Given the description of an element on the screen output the (x, y) to click on. 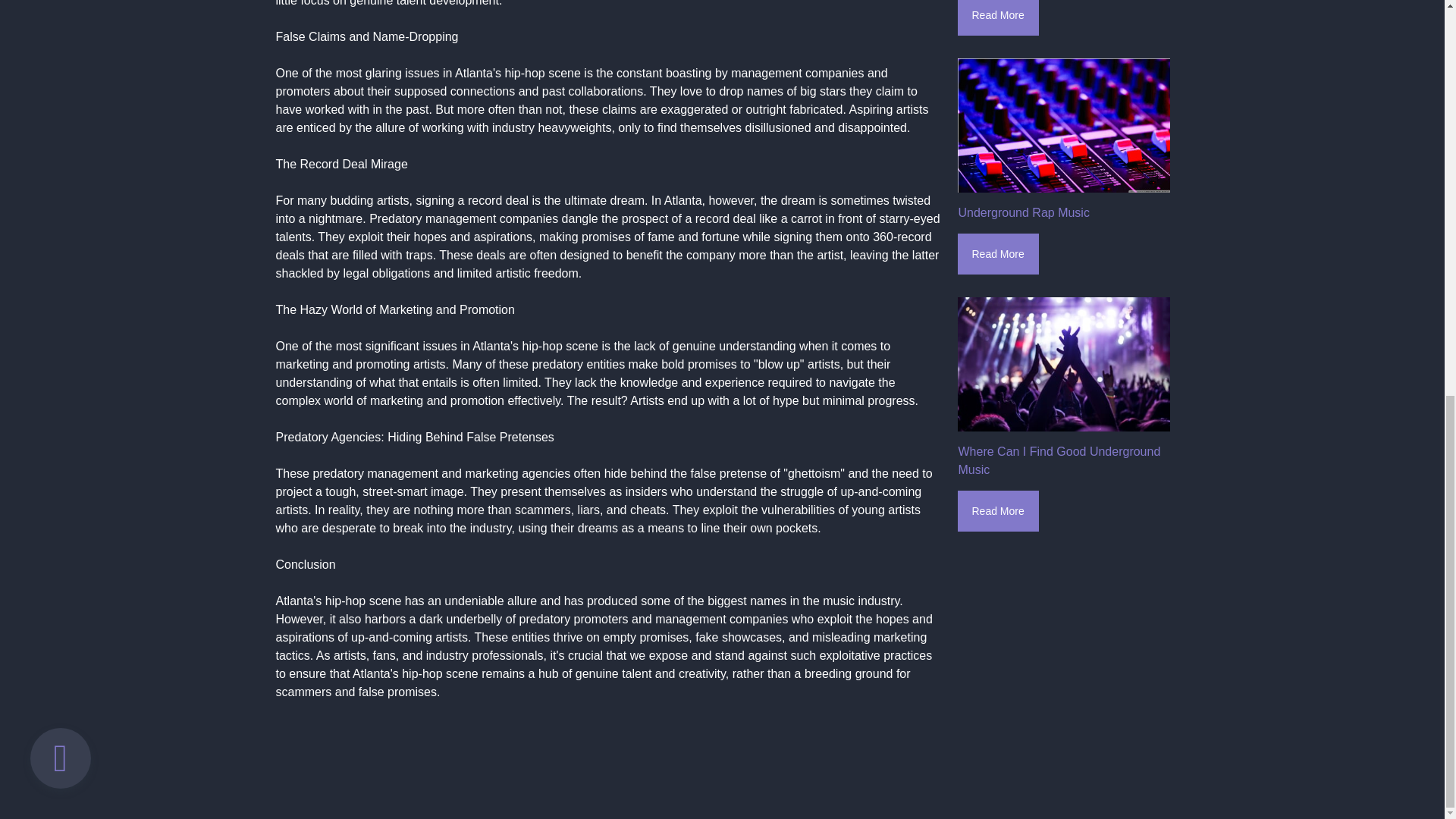
Read More (997, 510)
Where Can I Find Good Underground Music (1059, 460)
Read More (997, 253)
Underground Rap Music (1023, 212)
Underground Rap Music (1062, 125)
Read More (997, 18)
